Given the description of an element on the screen output the (x, y) to click on. 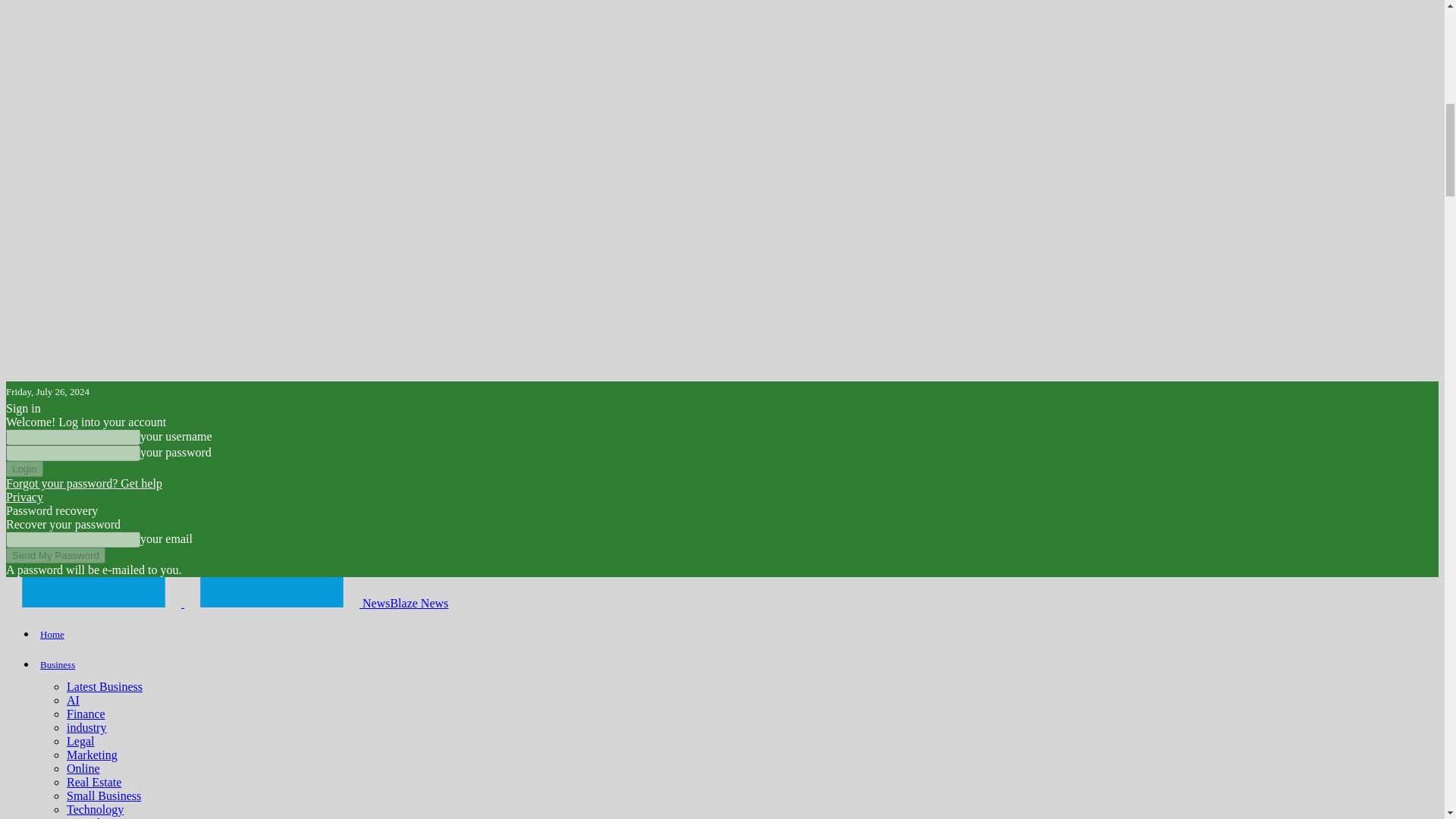
Login (24, 468)
Send My Password (54, 555)
NewsBlaze News logo (271, 592)
NewsBlaze News logo (92, 592)
